Given the description of an element on the screen output the (x, y) to click on. 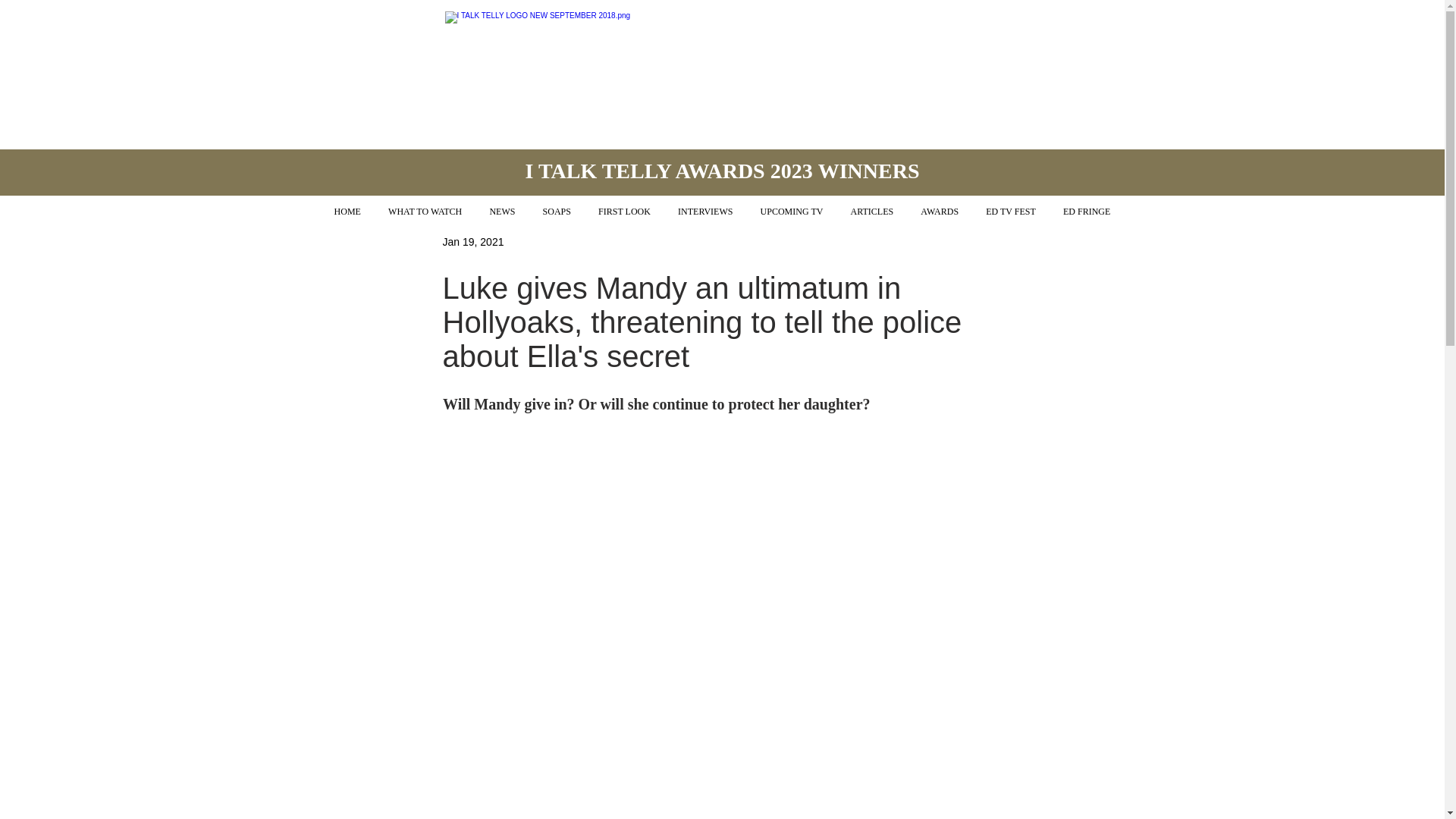
HOME (347, 212)
INTERVIEWS (705, 212)
SOAPS (555, 212)
ED FRINGE (1086, 212)
Jan 19, 2021 (472, 241)
ED TV FEST (1010, 212)
I TALK TELLY AWARDS 2023 WINNERS (721, 170)
FIRST LOOK (624, 212)
NEWS (502, 212)
ARTICLES (872, 212)
